Given the description of an element on the screen output the (x, y) to click on. 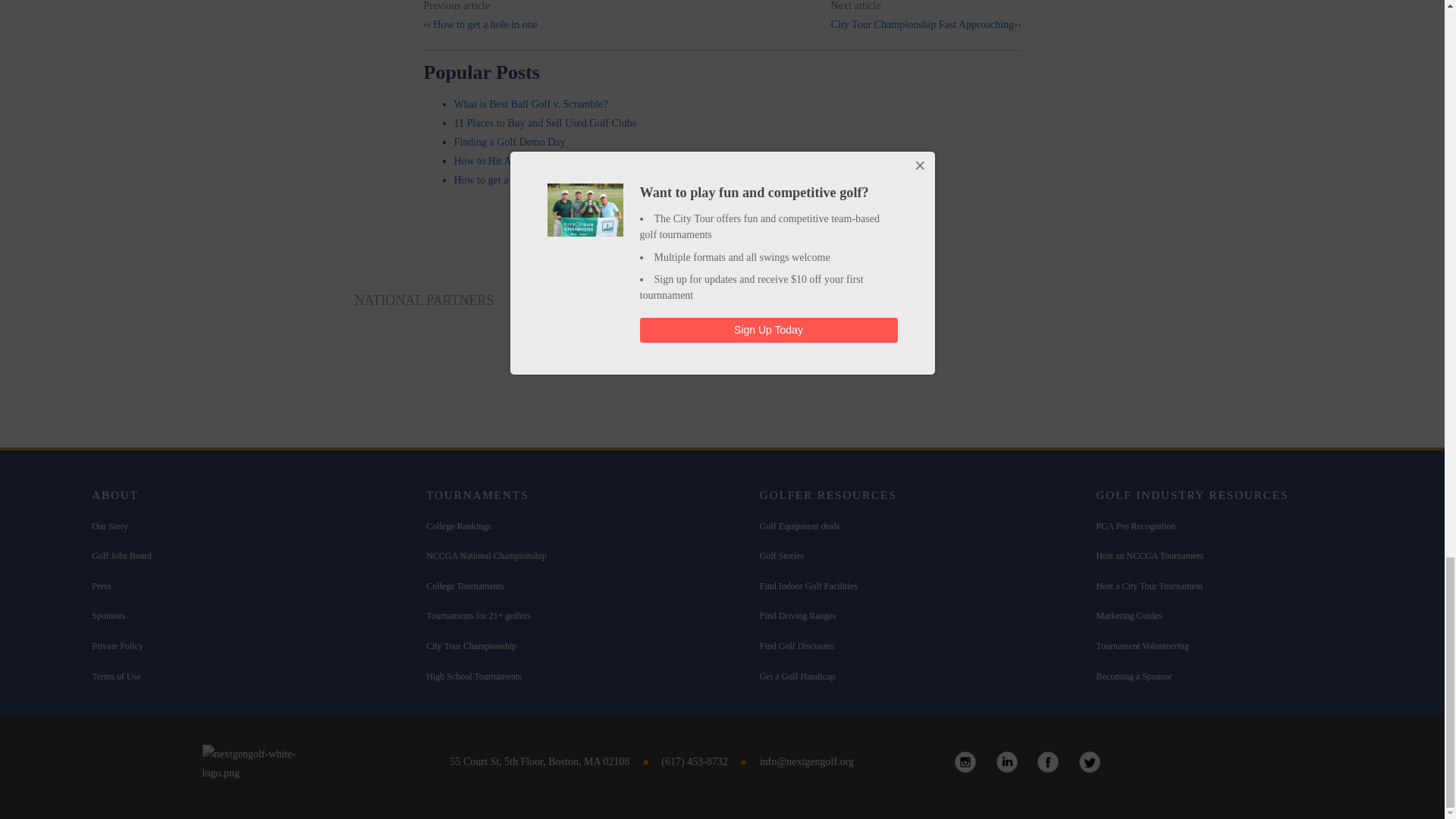
City Tour Championship Fast Approaching (926, 24)
nextgengolf-white-logo.png (264, 763)
Instagram (964, 762)
Twitter (1089, 762)
11 Places to Buy and Sell Used Golf Clubs (544, 122)
LinkedIn (1006, 762)
Facebook (1047, 762)
How to get a hole in one (480, 24)
What is Best Ball Golf v. Scramble? (529, 103)
Finding a Golf Demo Day (508, 142)
